Given the description of an element on the screen output the (x, y) to click on. 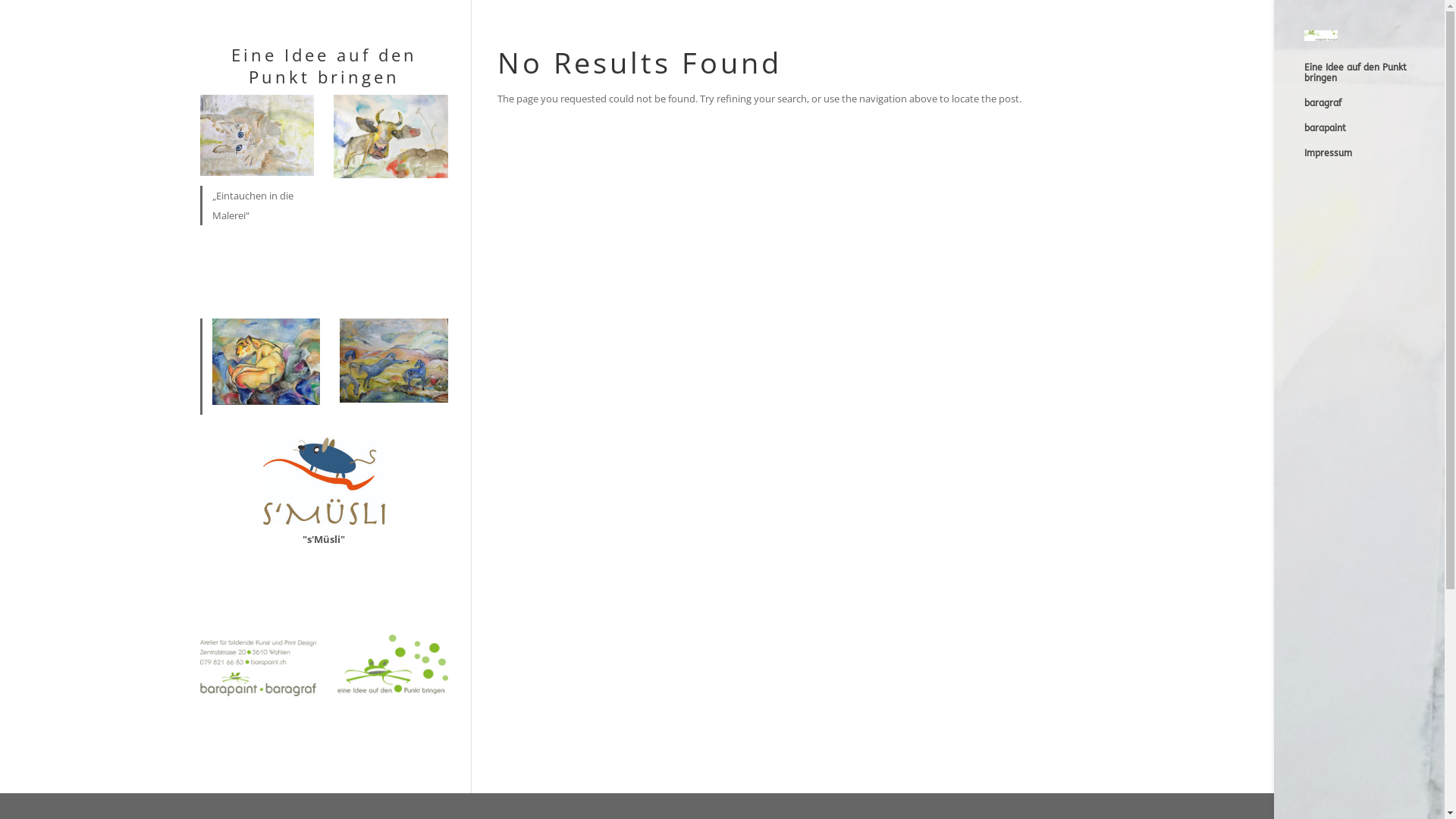
Eine Idee auf den Punkt bringen Element type: text (1374, 79)
baragraf Element type: text (1374, 109)
barapaint Element type: text (1374, 134)
Impressum Element type: text (1374, 159)
